Given the description of an element on the screen output the (x, y) to click on. 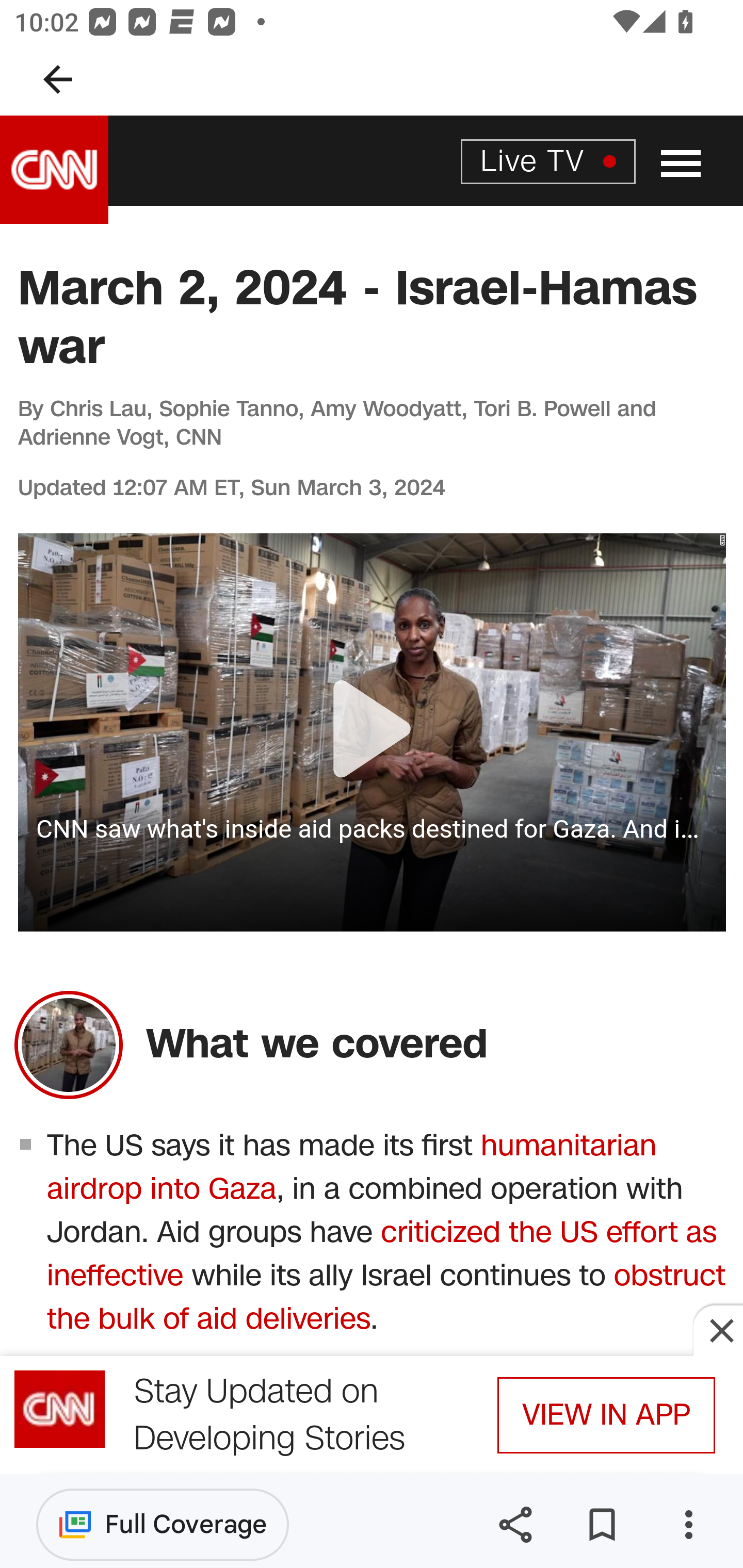
Navigate up (57, 79)
www.cnn (54, 170)
Live TV  (547, 160)
Play (372, 731)
humanitarian airdrop into Gaza (351, 1167)
criticized the US effort as ineffective (382, 1254)
obstruct the bulk of aid deliveries (385, 1297)
Dismiss (718, 1330)
VIEW IN APP (606, 1415)
Share (514, 1524)
Save for later (601, 1524)
More options (688, 1524)
Full Coverage (162, 1524)
